Given the description of an element on the screen output the (x, y) to click on. 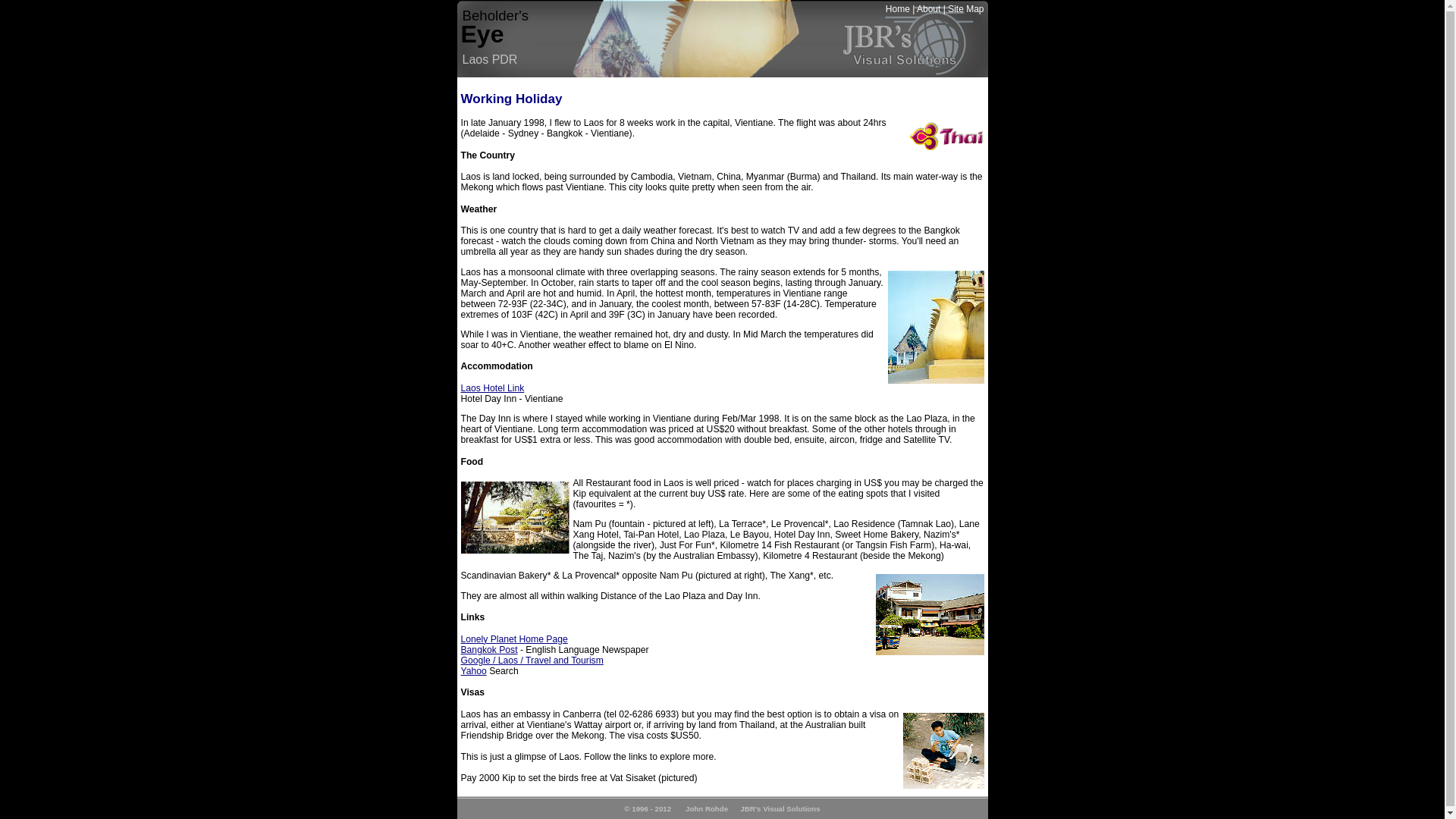
Home Element type: text (897, 8)
Lonely Planet Home Page Element type: text (514, 638)
Bangkok Post Element type: text (489, 649)
About Element type: text (928, 8)
John Rohde Element type: text (706, 808)
Site Map Element type: text (965, 8)
Google / Laos / Travel and Tourism Element type: text (532, 660)
Yahoo Element type: text (473, 670)
Laos Hotel Link Element type: text (492, 387)
